Given the description of an element on the screen output the (x, y) to click on. 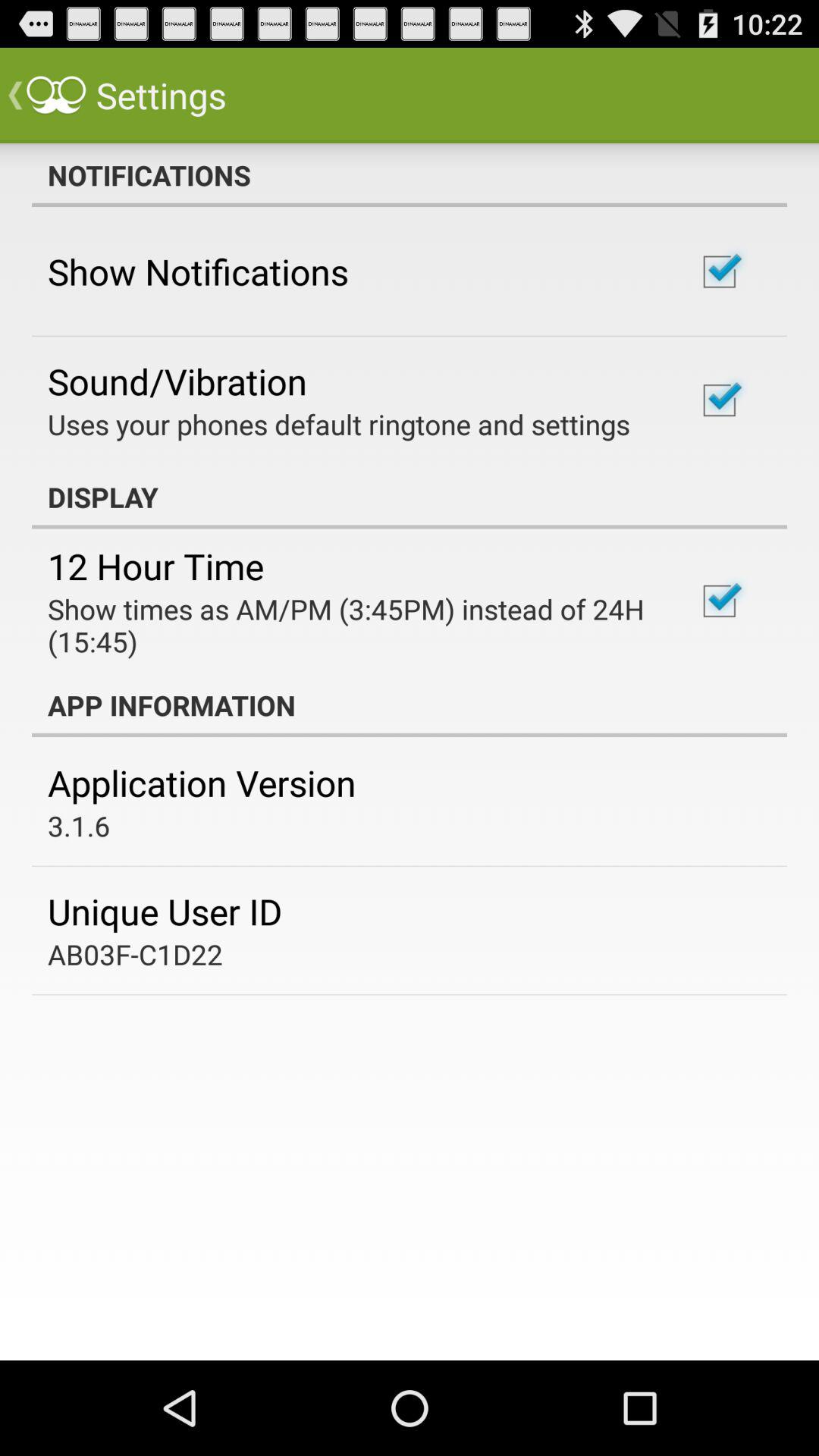
tap the sound/vibration icon (177, 381)
